Given the description of an element on the screen output the (x, y) to click on. 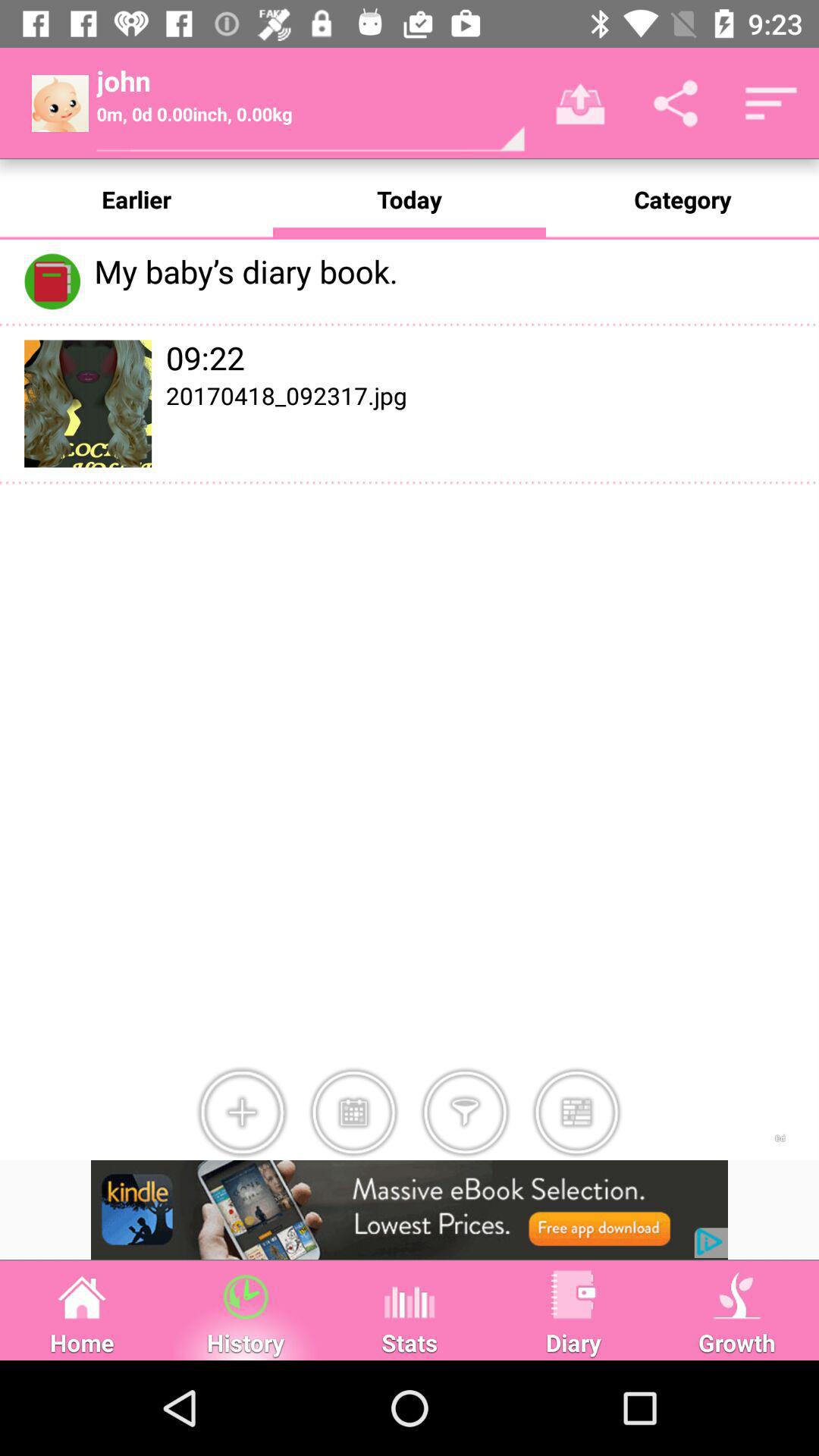
add more (242, 1112)
